Given the description of an element on the screen output the (x, y) to click on. 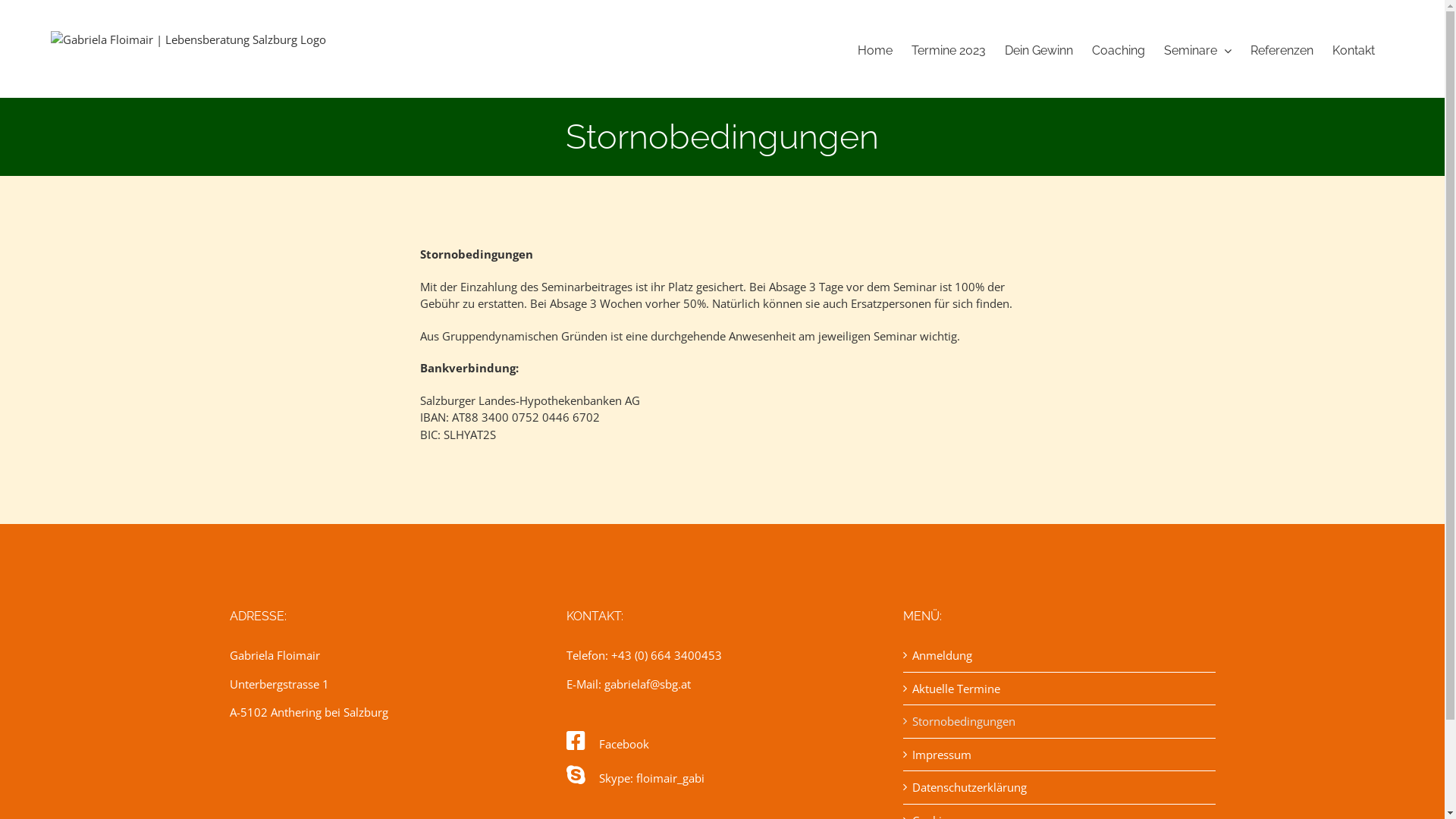
Aktuelle Termine Element type: text (1059, 687)
Facebook Element type: text (606, 743)
Skype: floimair_gabi Element type: text (634, 777)
Kontakt Element type: text (1353, 50)
Home Element type: text (874, 50)
Anmeldung Element type: text (1059, 655)
Termine 2023 Element type: text (948, 50)
Coaching Element type: text (1118, 50)
Seminare Element type: text (1197, 50)
Referenzen Element type: text (1281, 50)
Dein Gewinn Element type: text (1038, 50)
Stornobedingungen Element type: text (1059, 721)
gabrielaf@sbg.at Element type: text (646, 683)
Impressum Element type: text (1059, 754)
